Given the description of an element on the screen output the (x, y) to click on. 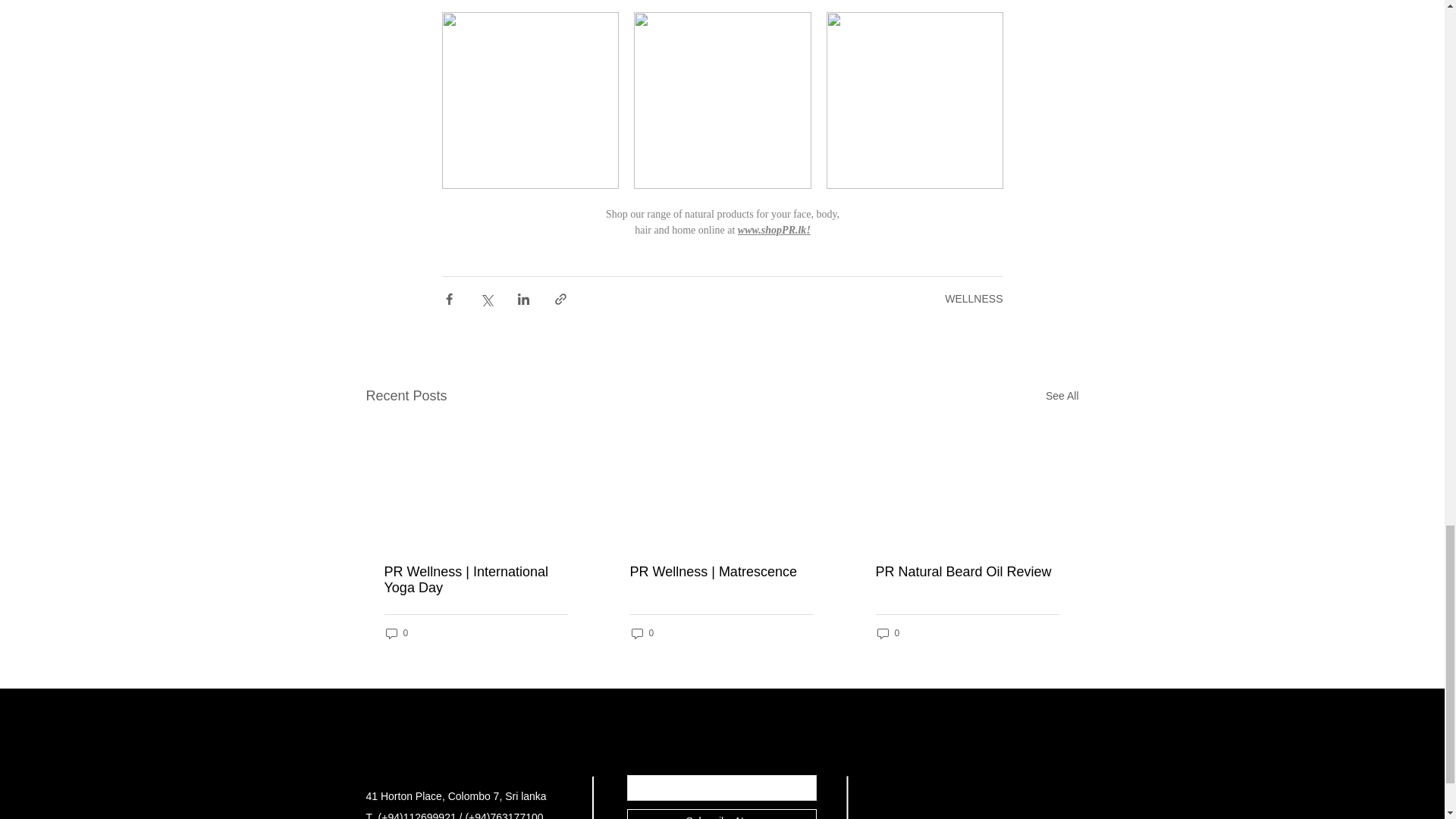
0 (641, 633)
PR Natural Beard Oil Review (966, 571)
WELLNESS (973, 298)
www.shopPR.lk (771, 229)
0 (396, 633)
0 (888, 633)
See All (1061, 395)
Subscribe Now (720, 814)
